Given the description of an element on the screen output the (x, y) to click on. 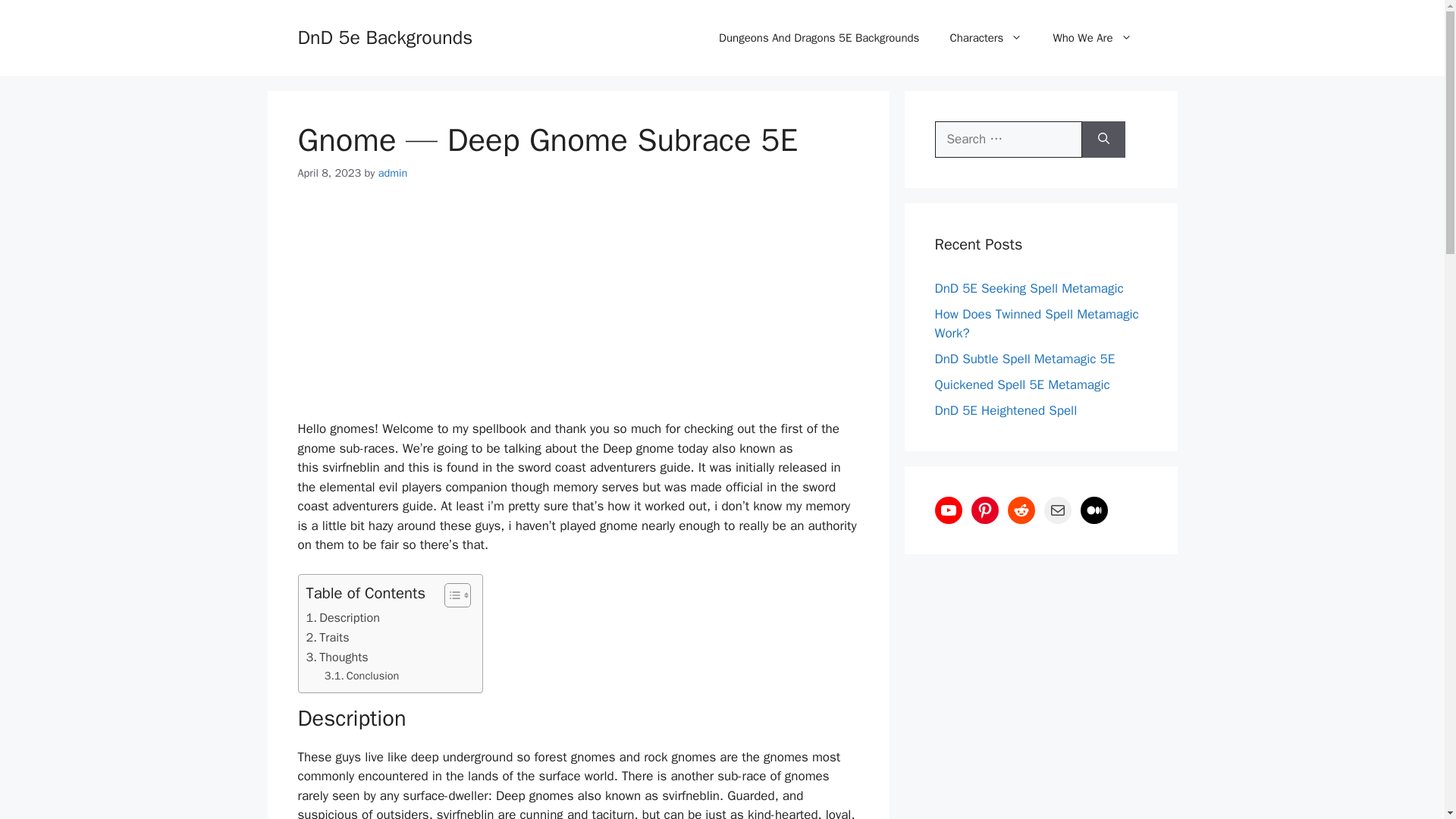
DnD Subtle Spell Metamagic 5E (1024, 358)
DnD 5E Heightened Spell (1005, 410)
Description (342, 618)
DnD 5E Seeking Spell Metamagic (1028, 288)
Thoughts (336, 657)
Quickened Spell 5E Metamagic (1021, 384)
Traits (327, 637)
Who We Are (1091, 37)
admin (392, 172)
Conclusion (361, 675)
